Given the description of an element on the screen output the (x, y) to click on. 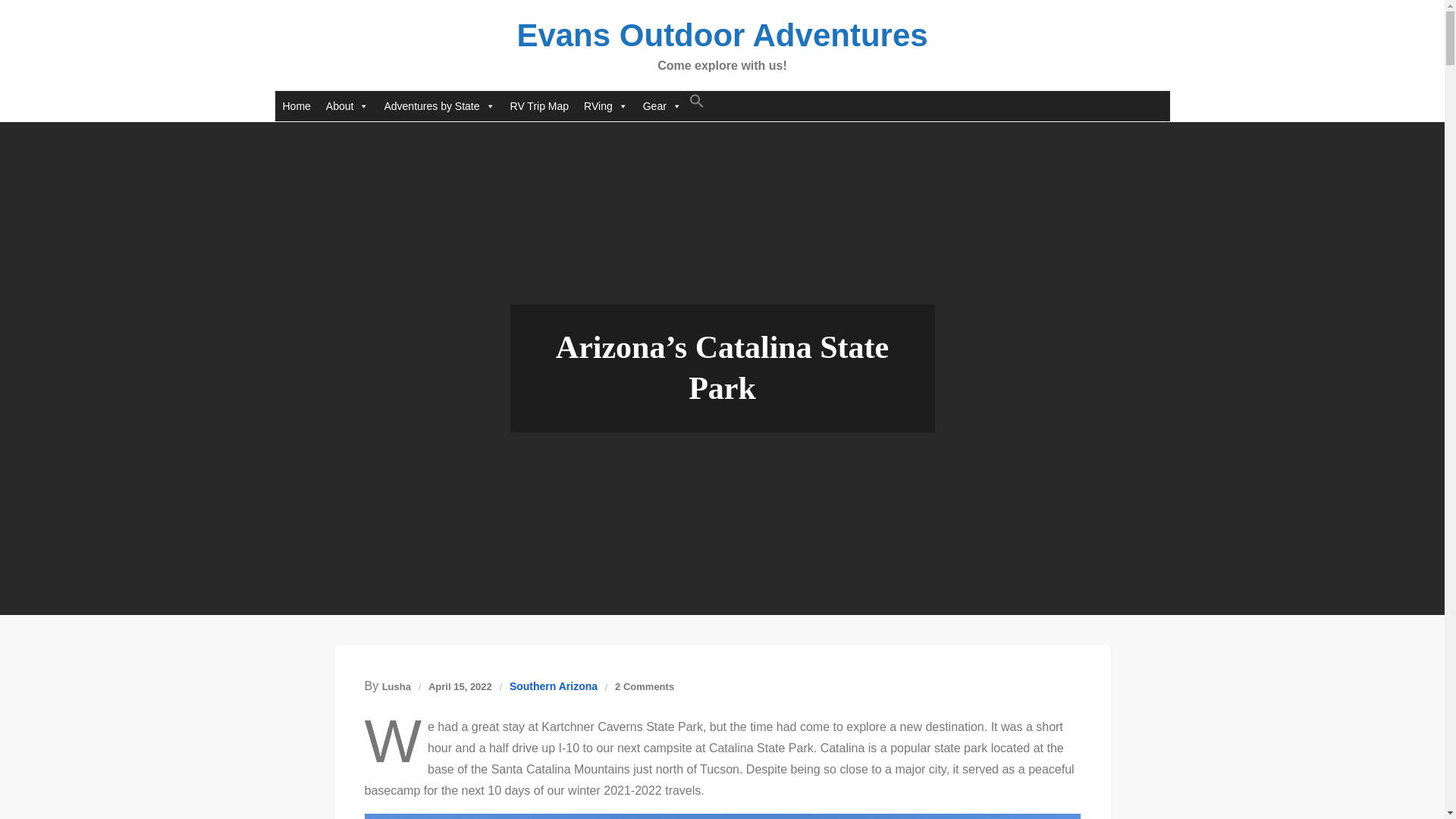
Adventures by State (438, 105)
Evans Outdoor Adventures (721, 35)
Home (296, 105)
About (347, 105)
